Given the description of an element on the screen output the (x, y) to click on. 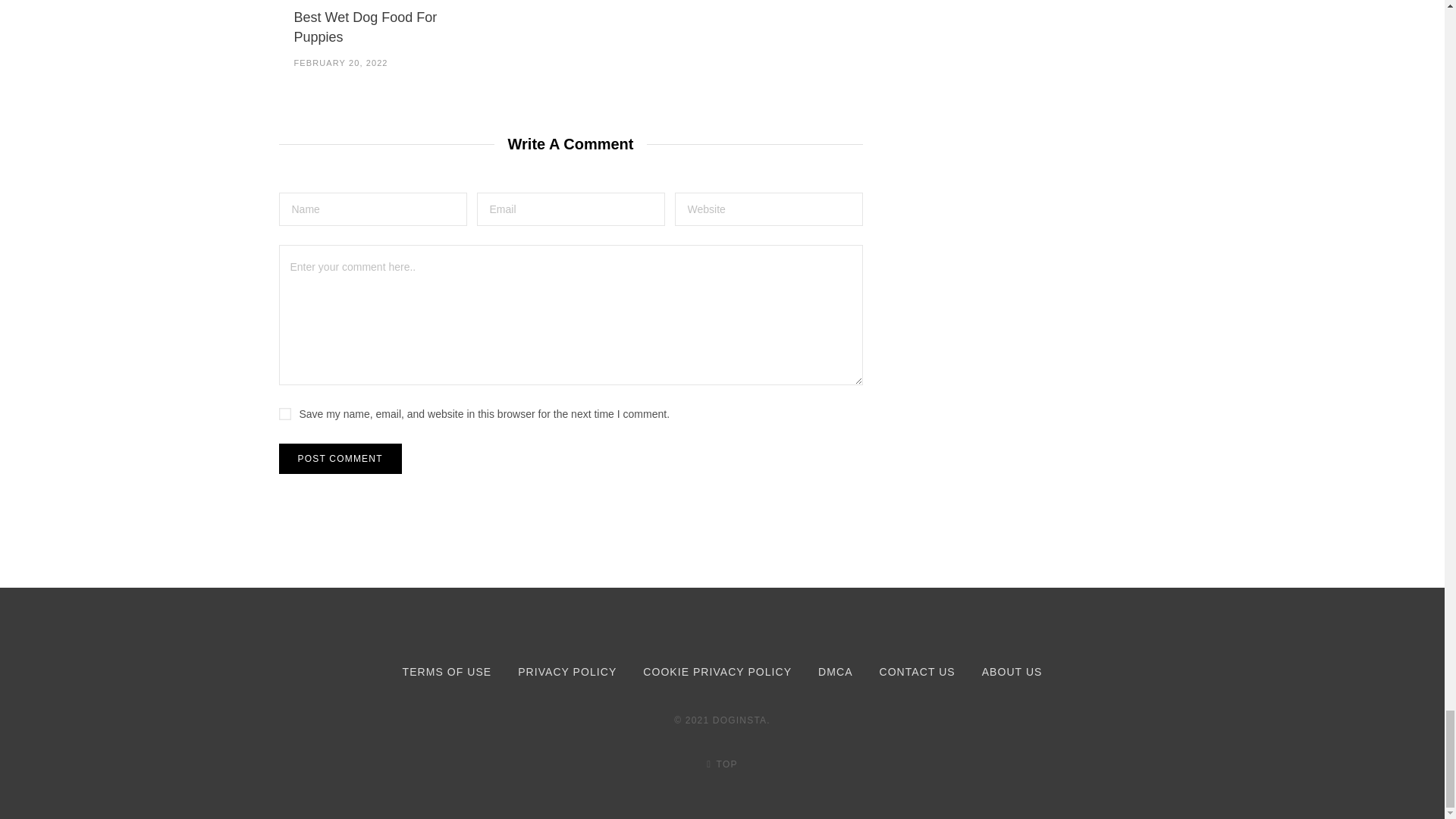
yes (285, 413)
Post Comment (340, 458)
TERMS OF USE (447, 671)
Best Wet Dog Food For Puppies (366, 27)
Post Comment (340, 458)
